Given the description of an element on the screen output the (x, y) to click on. 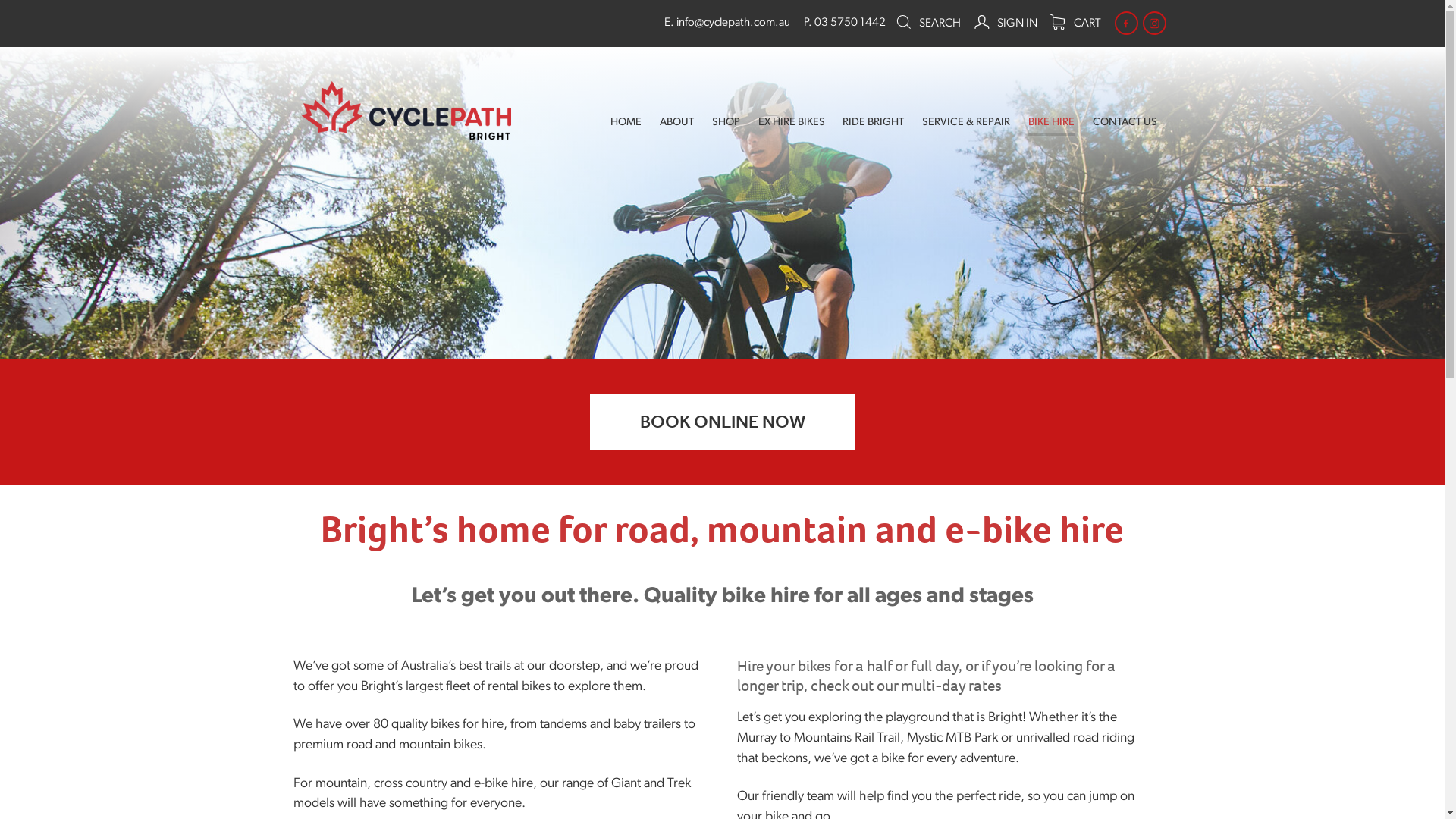
BIKE HIRE Element type: text (1051, 122)
SIGN IN Element type: text (1004, 22)
SERVICE & REPAIR Element type: text (966, 122)
EX HIRE BIKES Element type: text (791, 122)
SEARCH Element type: text (927, 22)
HOME Element type: text (626, 122)
ABOUT Element type: text (676, 122)
BOOK ONLINE NOW Element type: text (722, 422)
CONTACT US Element type: text (1124, 122)
SHOP Element type: text (725, 122)
A link to this website's Instagram. Element type: hover (1154, 22)
CART Element type: text (1075, 22)
A link to this website's Facebook. Element type: hover (1126, 22)
info@cyclepath.com.au Element type: text (733, 22)
RIDE BRIGHT Element type: text (873, 122)
